Given the description of an element on the screen output the (x, y) to click on. 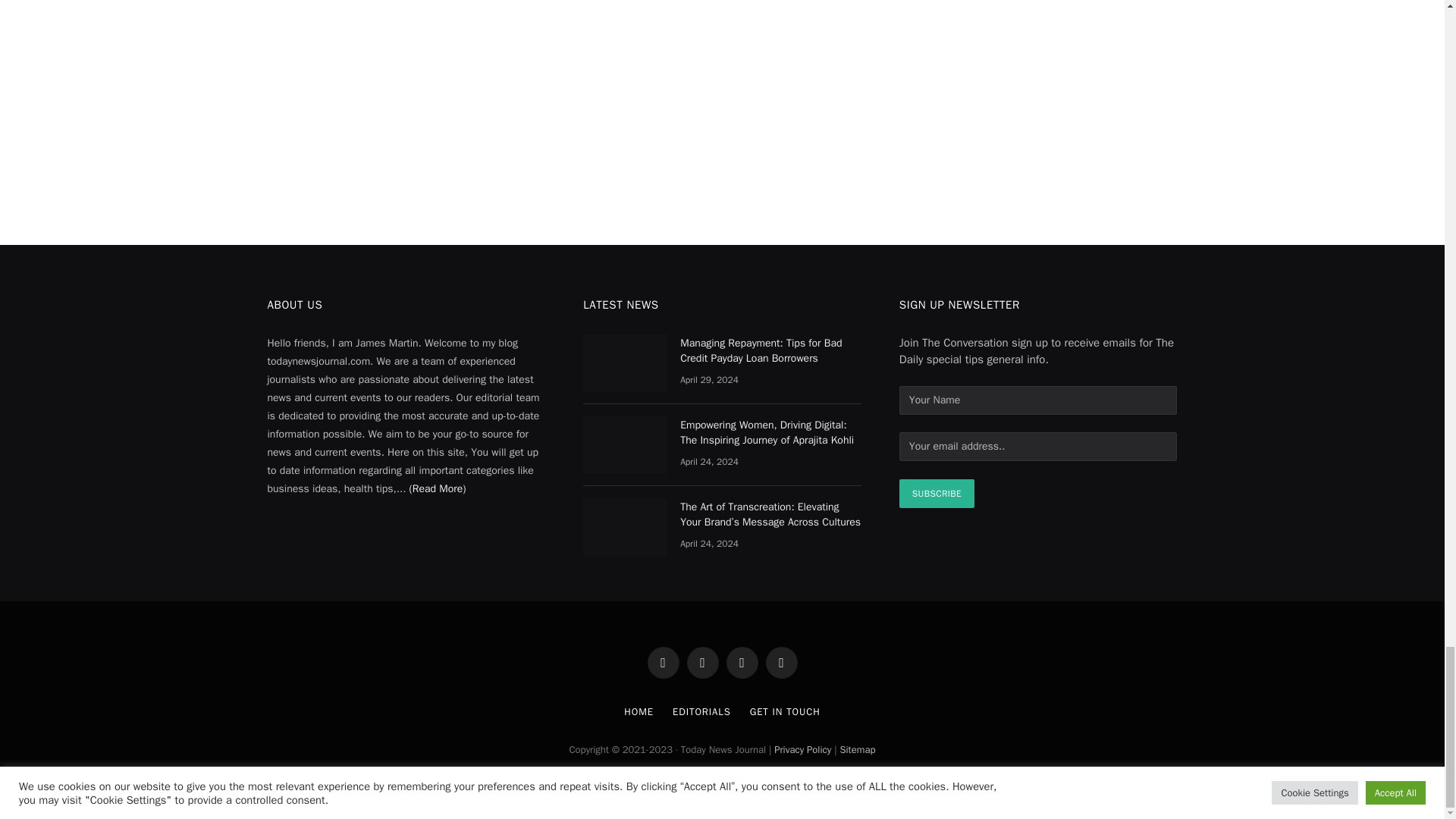
Subscribe (936, 493)
